Given the description of an element on the screen output the (x, y) to click on. 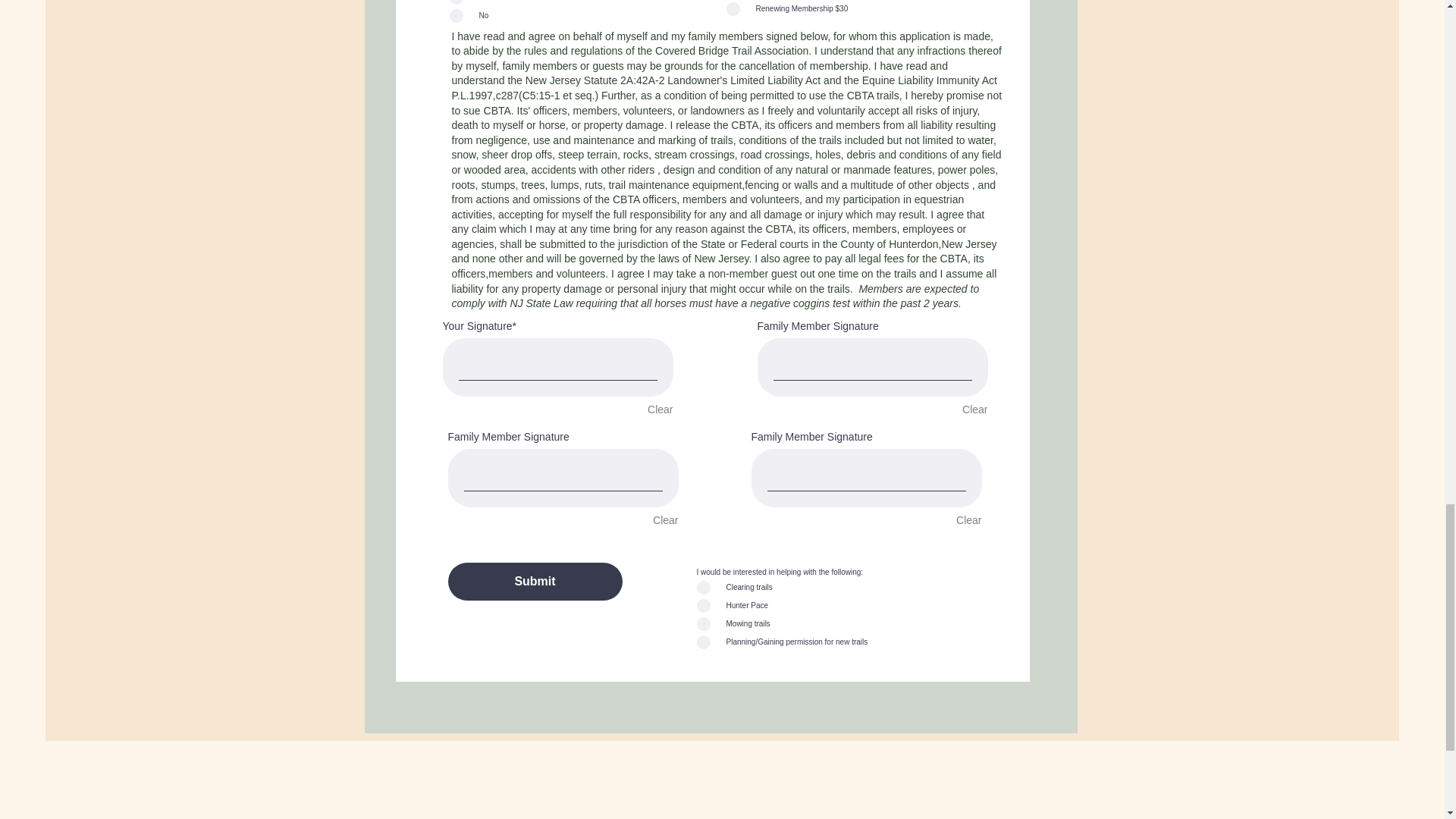
Clear (665, 520)
Clear (968, 520)
Clear (659, 409)
Clear (974, 409)
Submit (533, 581)
